Given the description of an element on the screen output the (x, y) to click on. 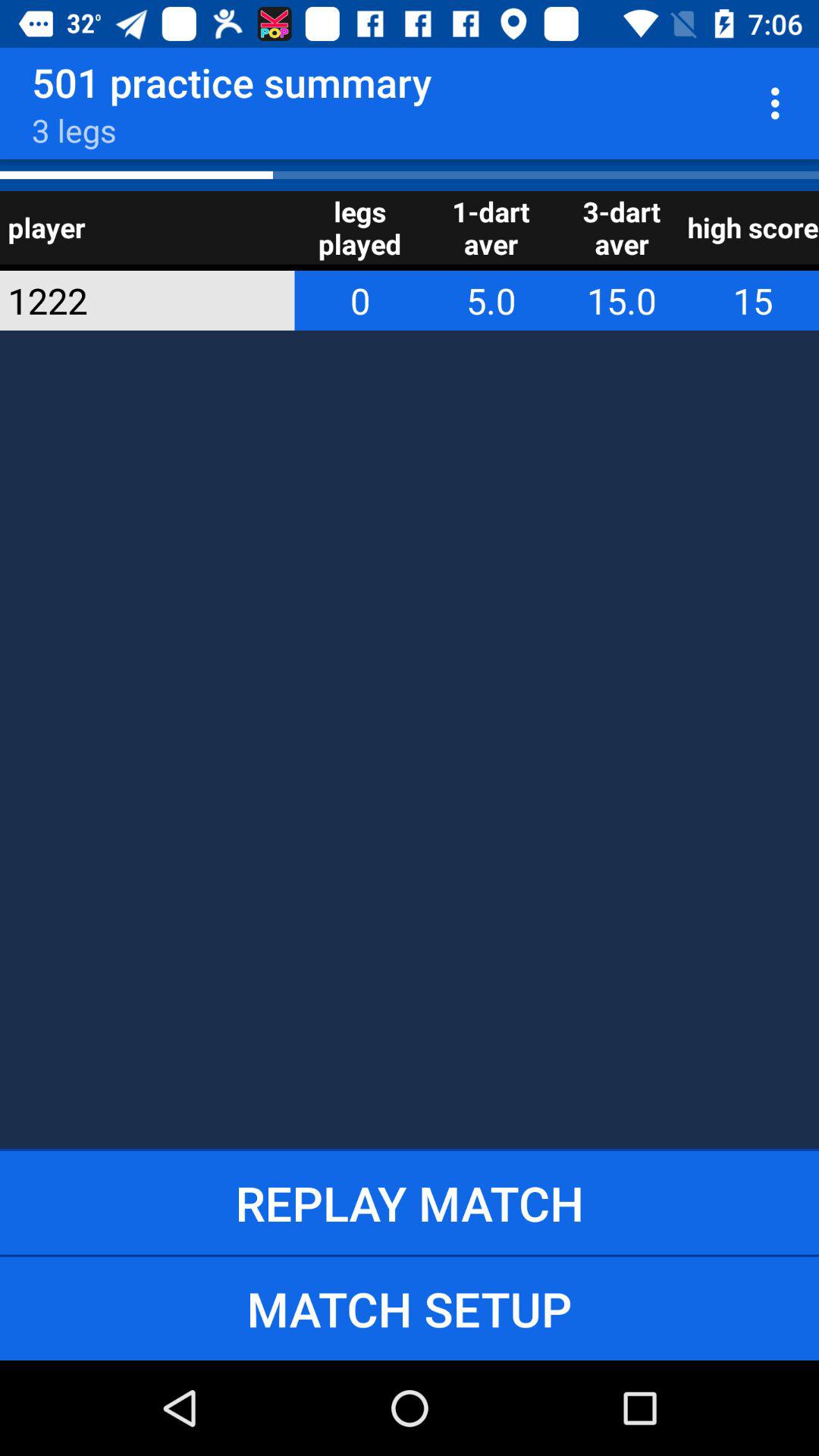
jump to 1222 item (126, 300)
